Given the description of an element on the screen output the (x, y) to click on. 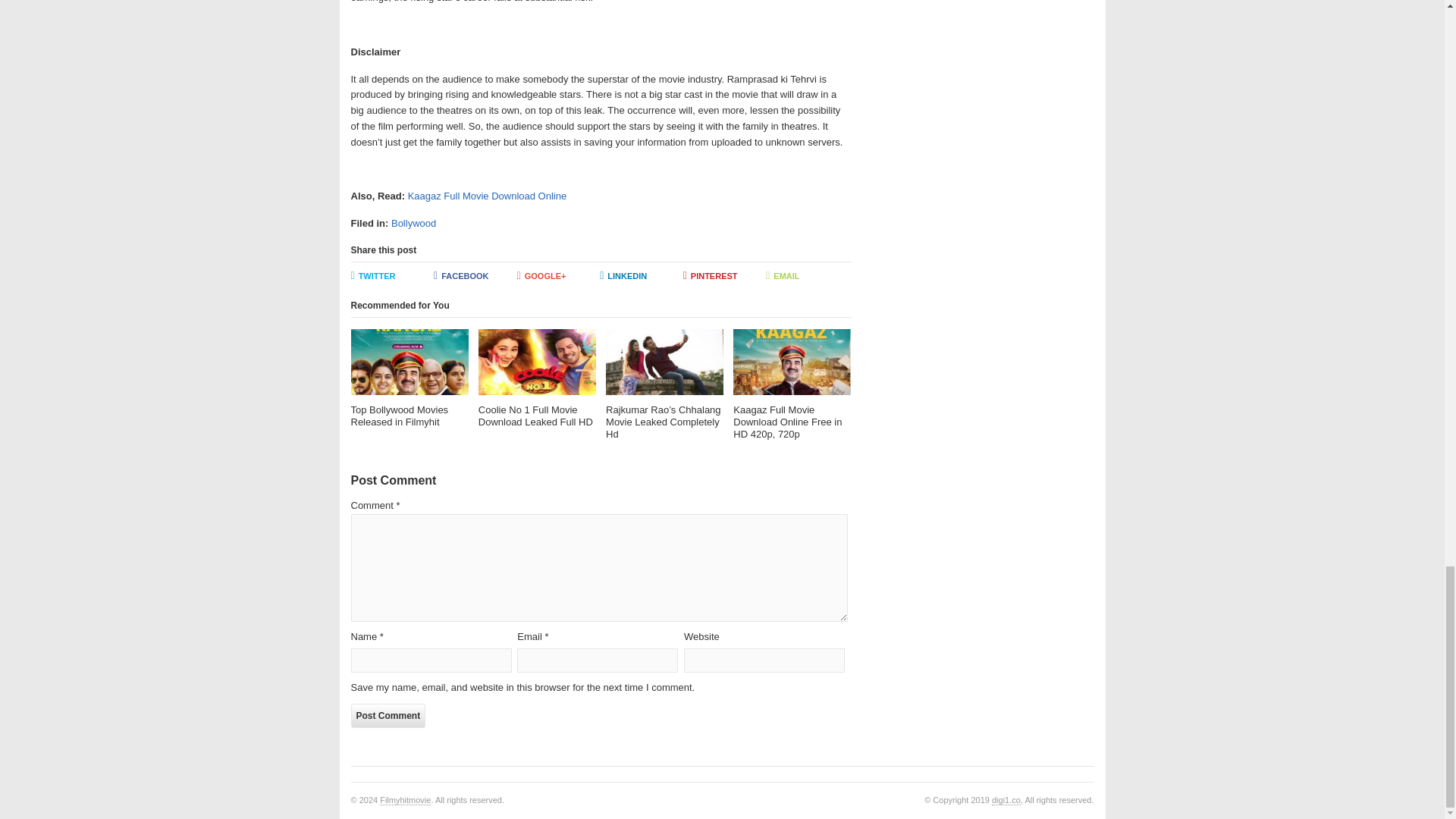
Post Comment (387, 715)
Coolie No 1 Full Movie Download Leaked Full HD (537, 378)
LINKEDIN (640, 276)
PINTEREST (724, 276)
TWITTER (391, 276)
Post Comment (387, 715)
Top Bollywood Movies Released in Filmyhit (408, 378)
FACEBOOK (474, 276)
Bollywood (413, 223)
Kaagaz Full Movie Download Online Free in HD 420p, 720p (791, 384)
Kaagaz Full Movie Download Online (487, 195)
EMAIL (806, 276)
